Given the description of an element on the screen output the (x, y) to click on. 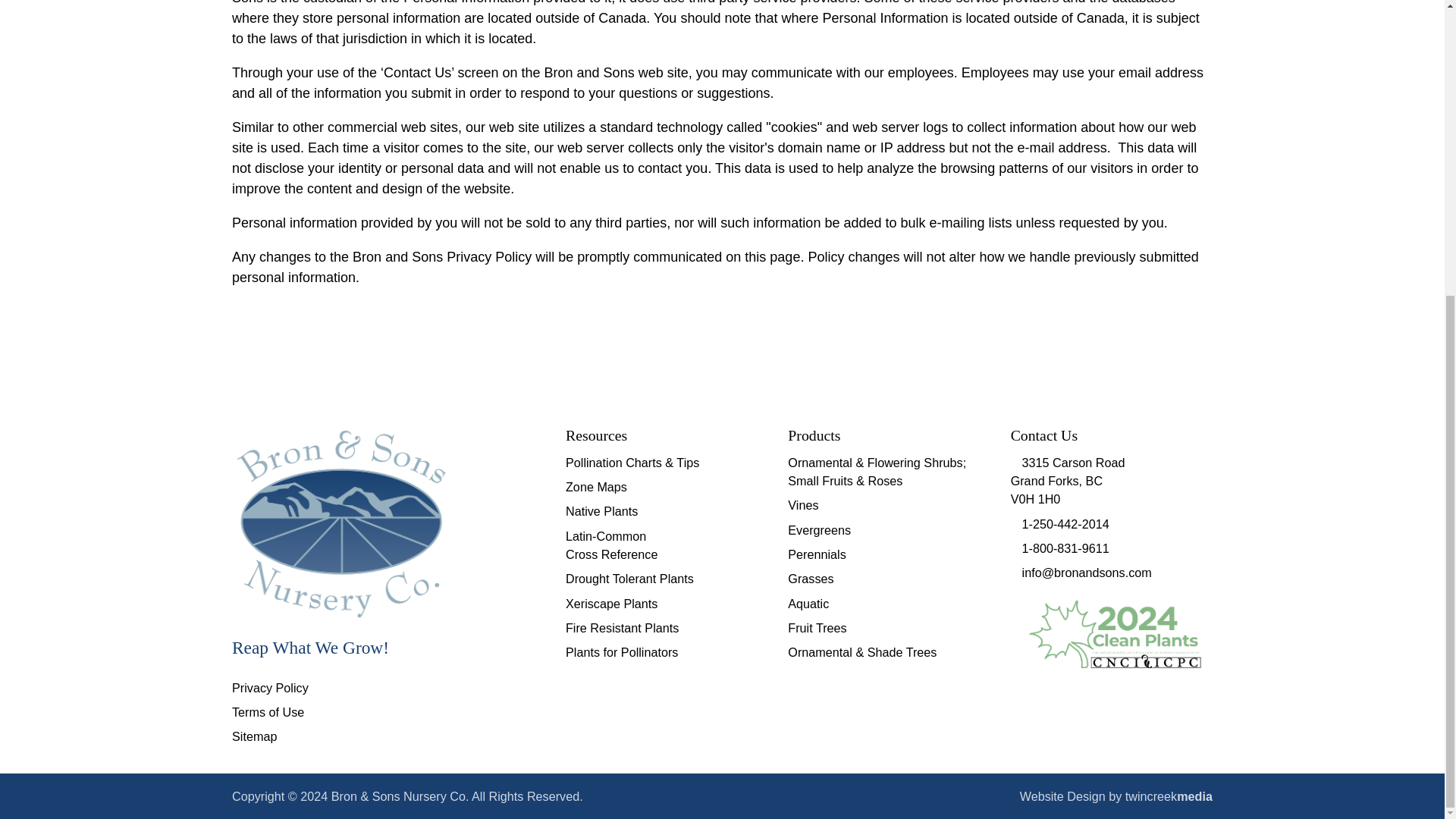
Terms of Use (267, 712)
Sitemap (253, 735)
Privacy Policy (269, 687)
